Given the description of an element on the screen output the (x, y) to click on. 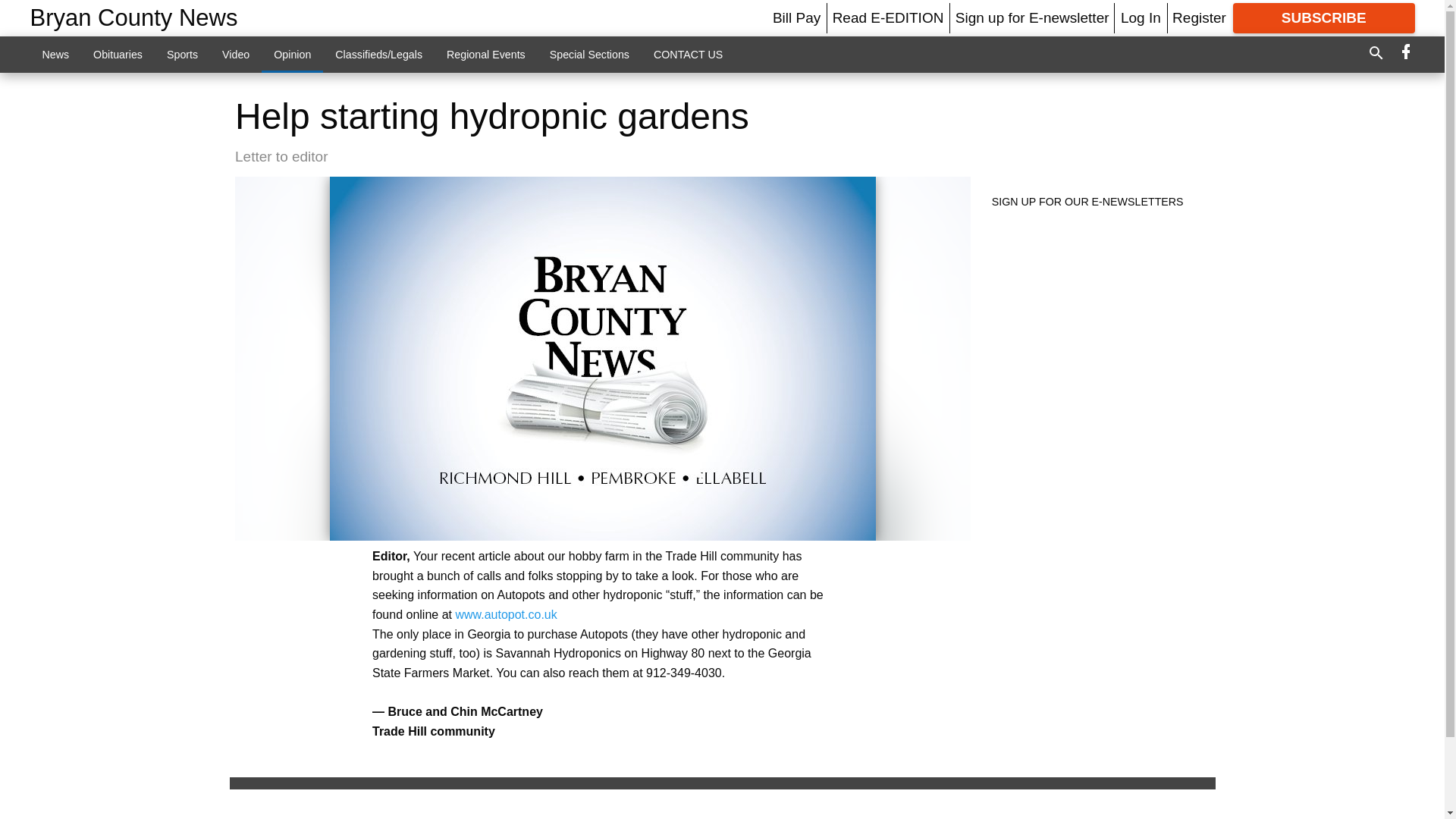
Log In (1140, 17)
News (55, 54)
SUBSCRIBE (1324, 18)
Sign up for E-newsletter (1032, 17)
CONTACT US (688, 54)
Bryan County News (134, 17)
Video (235, 54)
Obituaries (117, 54)
Register (1198, 17)
Regional Events (485, 54)
